Given the description of an element on the screen output the (x, y) to click on. 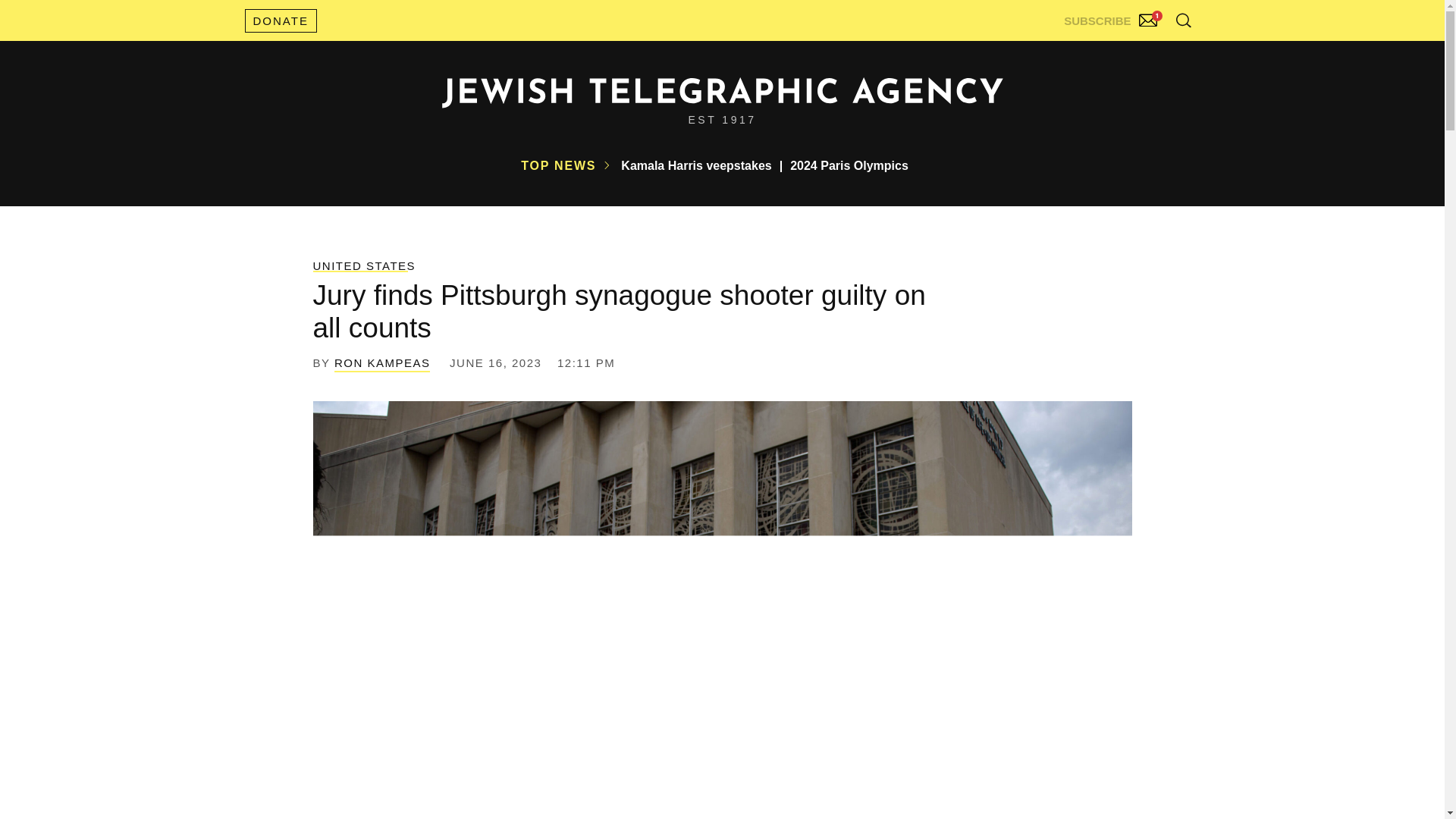
SUBSCRIBE (1112, 17)
Search (1144, 53)
DONATE (279, 20)
SEARCH TOGGLESEARCH TOGGLE (1182, 20)
